Given the description of an element on the screen output the (x, y) to click on. 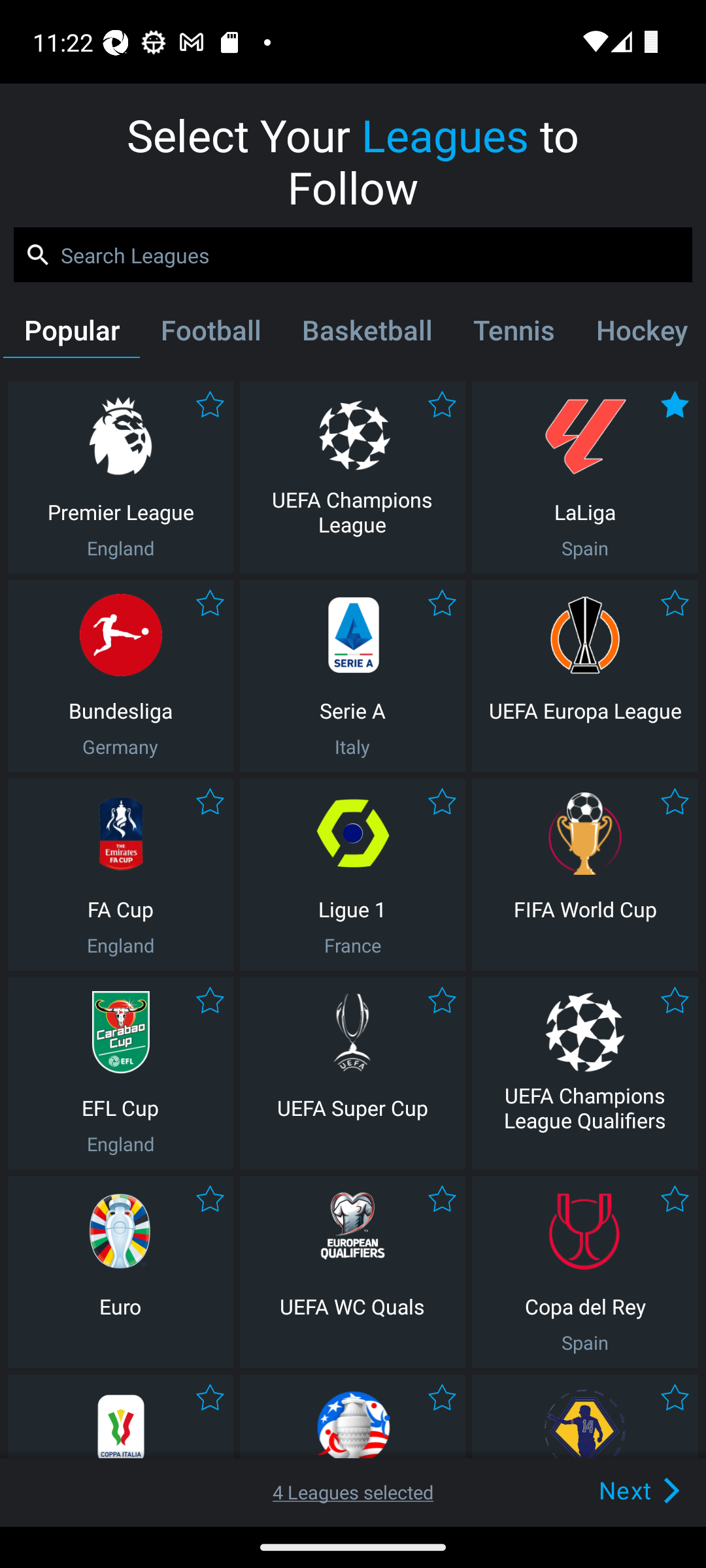
Search Leagues (352, 254)
Popular (71, 333)
Football (209, 333)
Basketball (366, 333)
Tennis (513, 333)
Hockey (638, 333)
Premier League England (120, 477)
UEFA Champions League (352, 477)
LaLiga Spain (585, 477)
Bundesliga Germany (120, 675)
Serie A Italy (352, 675)
UEFA Europa League (585, 675)
FA Cup England (120, 874)
Ligue 1 France (352, 874)
FIFA World Cup (585, 874)
EFL Cup England (120, 1072)
UEFA Super Cup (352, 1072)
UEFA Champions League Qualifiers (585, 1072)
Euro (120, 1271)
UEFA WC Quals (352, 1271)
Copa del Rey Spain (585, 1271)
Next (609, 1489)
4 Leagues selected (352, 1491)
